Given the description of an element on the screen output the (x, y) to click on. 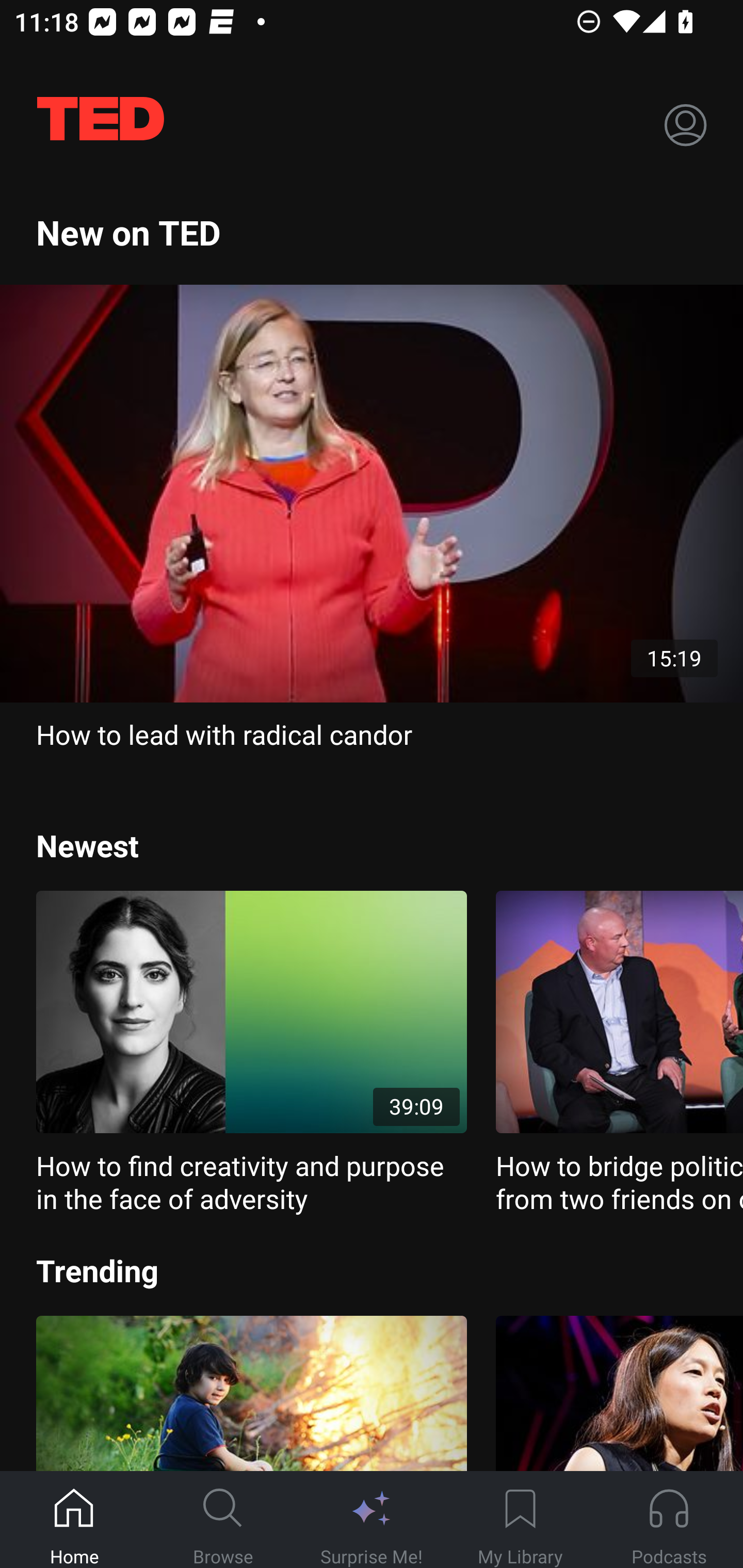
Home (74, 1520)
Browse (222, 1520)
Surprise Me! (371, 1520)
My Library (519, 1520)
Podcasts (668, 1520)
